Given the description of an element on the screen output the (x, y) to click on. 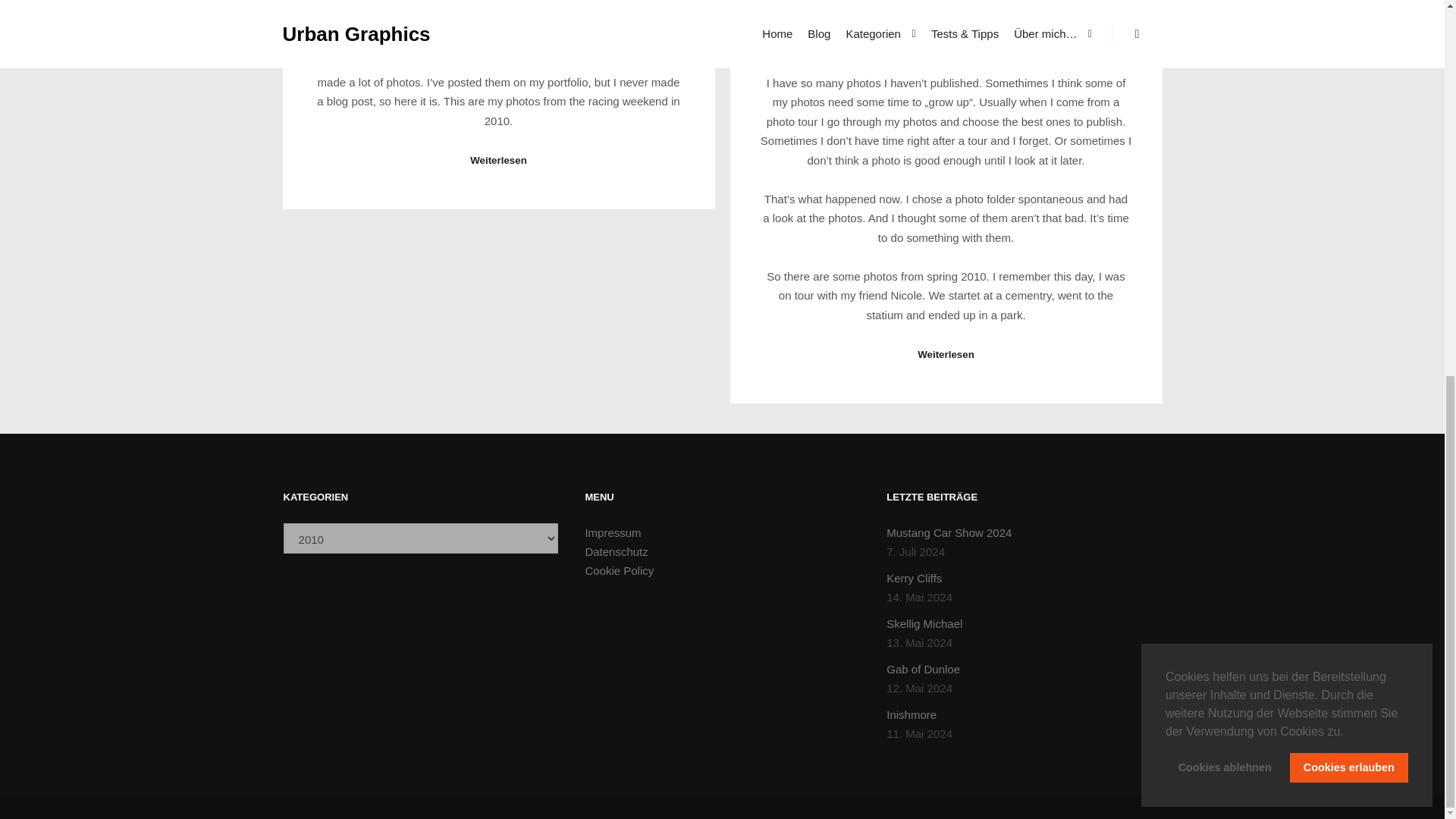
Kerry Cliffs (914, 577)
Mustang Car Show 2024 (948, 532)
Cookies erlauben (1348, 74)
Cookies ablehnen (1225, 74)
Skellig Michael (924, 623)
Inishmore (911, 714)
Gab of Dunloe (922, 668)
